Given the description of an element on the screen output the (x, y) to click on. 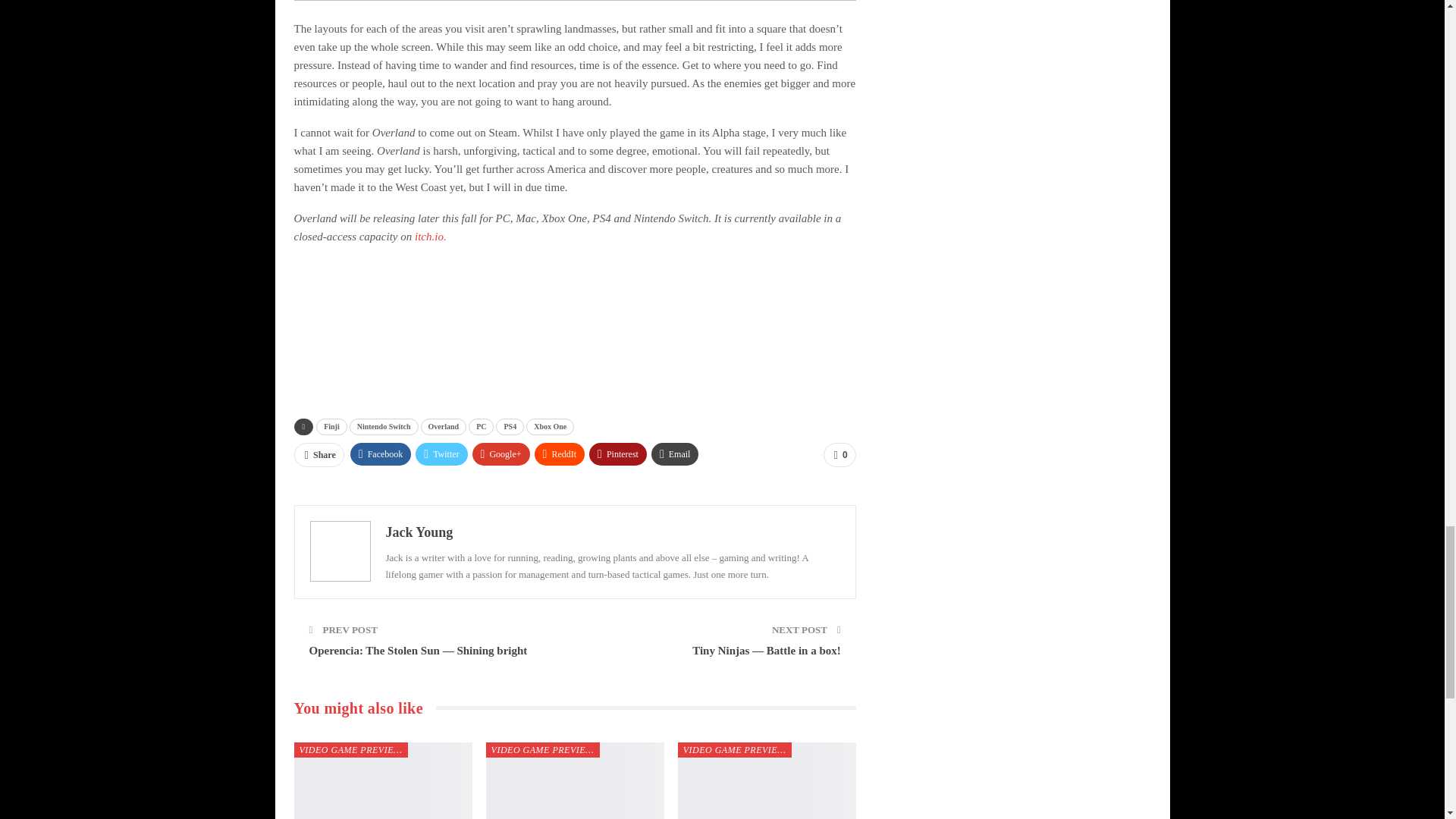
Xbox One (549, 426)
PC (480, 426)
Overland (443, 426)
Twitter (440, 454)
itch.io. (430, 236)
0 (840, 454)
Nintendo Switch (384, 426)
Finji (331, 426)
Pinterest (617, 454)
Facebook (381, 454)
PS4 (510, 426)
ReddIt (559, 454)
Email (674, 454)
